Given the description of an element on the screen output the (x, y) to click on. 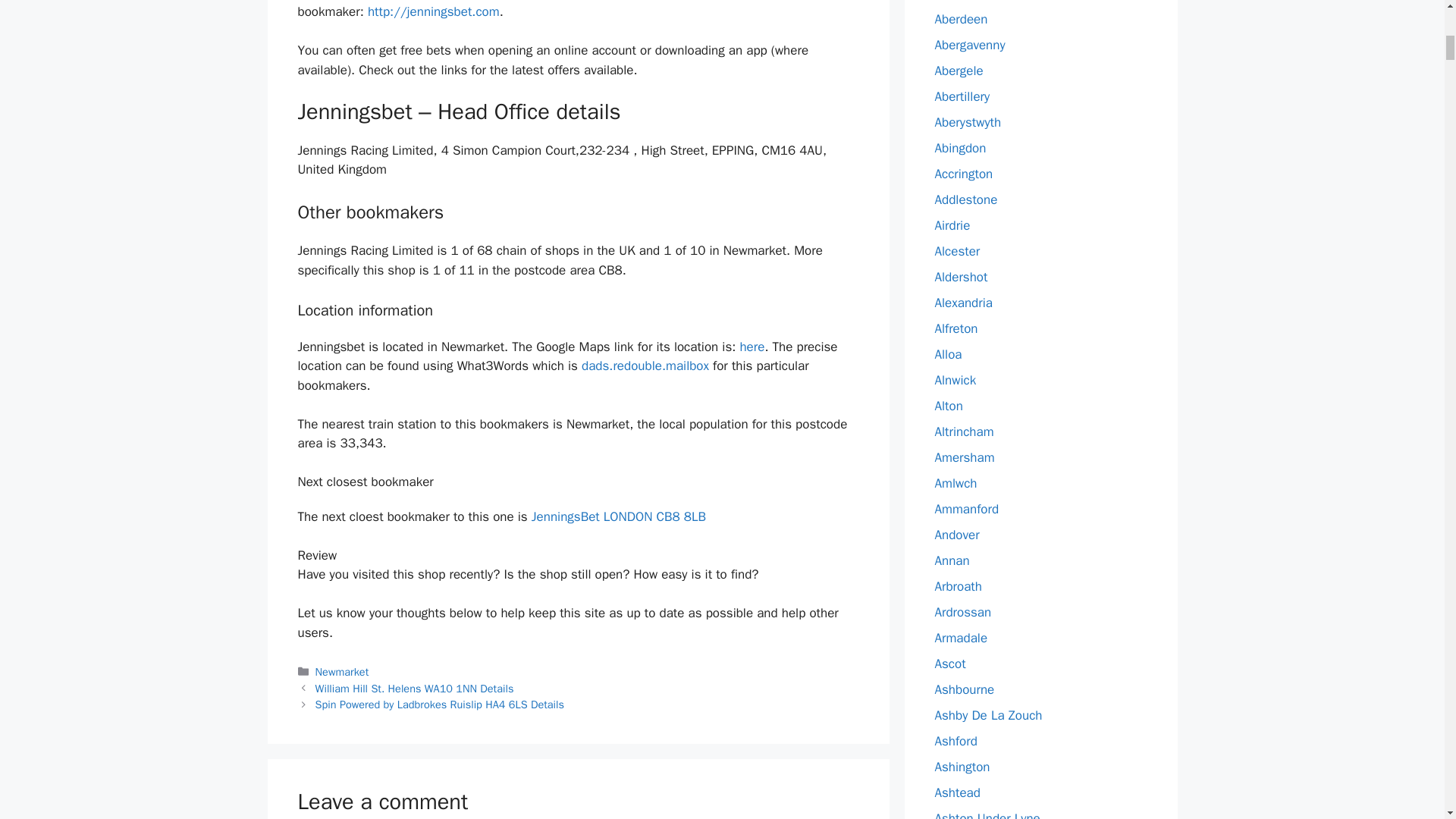
Aberdeen (960, 19)
Abingdon (959, 148)
Abergavenny (969, 44)
Airdrie (951, 225)
Aberystwyth (967, 122)
Accrington (963, 173)
Alfreton (955, 328)
Addlestone (965, 199)
here (751, 346)
Spin Powered by Ladbrokes Ruislip HA4 6LS Details (439, 704)
